Given the description of an element on the screen output the (x, y) to click on. 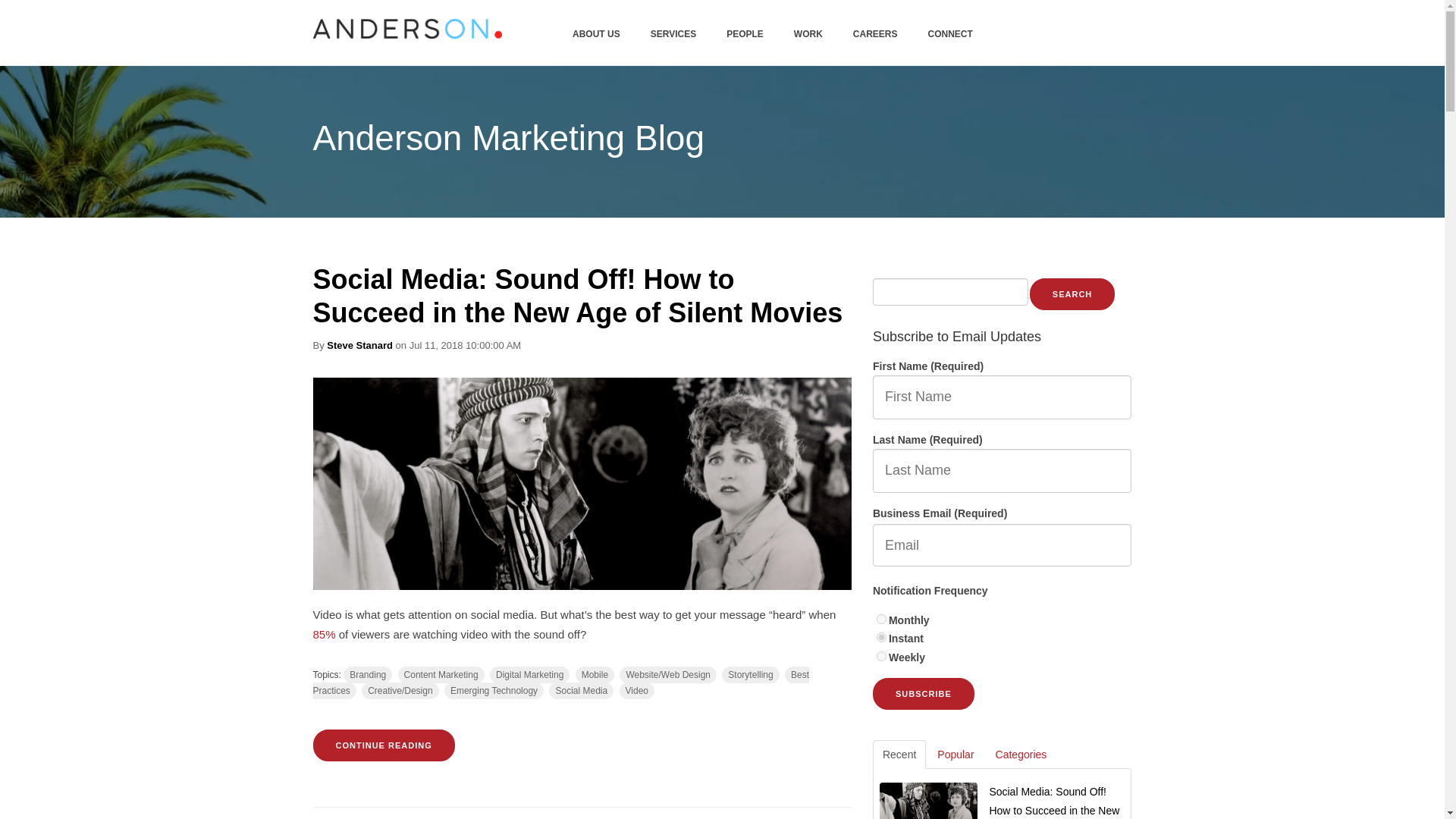
anderson-black-3 (406, 28)
Steve Stanard (359, 345)
Best Practices (561, 682)
CAREERS (874, 33)
WORK (808, 33)
SERVICES (673, 33)
monthly (881, 619)
Branding (367, 674)
Content Marketing (440, 674)
weekly (881, 655)
PEOPLE (744, 33)
CONNECT (950, 33)
ABOUT US (595, 33)
Mobile (594, 674)
Emerging Technology (493, 690)
